Given the description of an element on the screen output the (x, y) to click on. 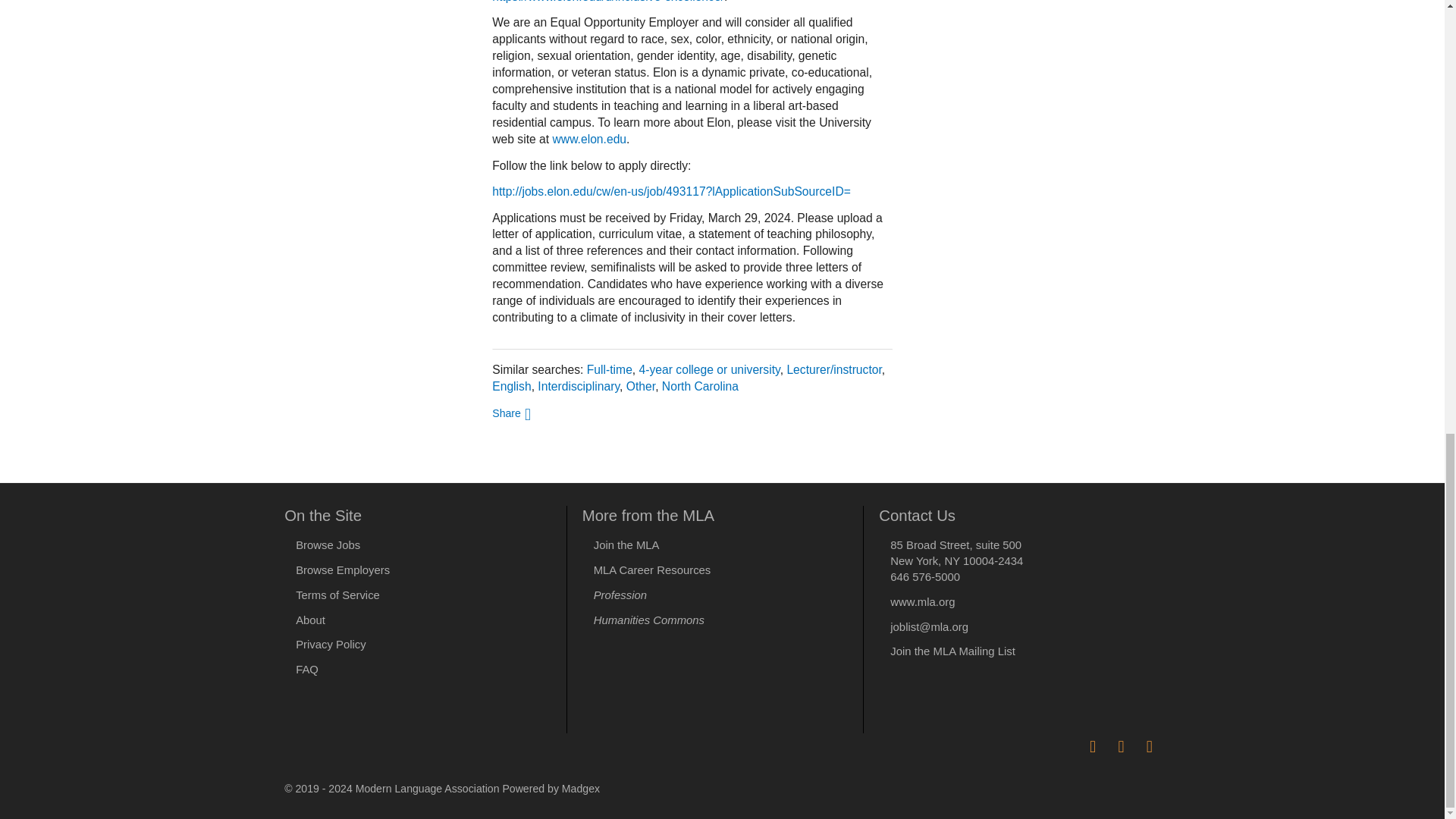
Full-time (608, 369)
English (511, 386)
www.elon.edu (588, 138)
Browse Employers (342, 570)
4-year college or university (709, 369)
About (309, 620)
Browse Jobs (327, 544)
Interdisciplinary (578, 386)
Other (640, 386)
Share (511, 412)
North Carolina (700, 386)
Terms of Service (337, 594)
